Given the description of an element on the screen output the (x, y) to click on. 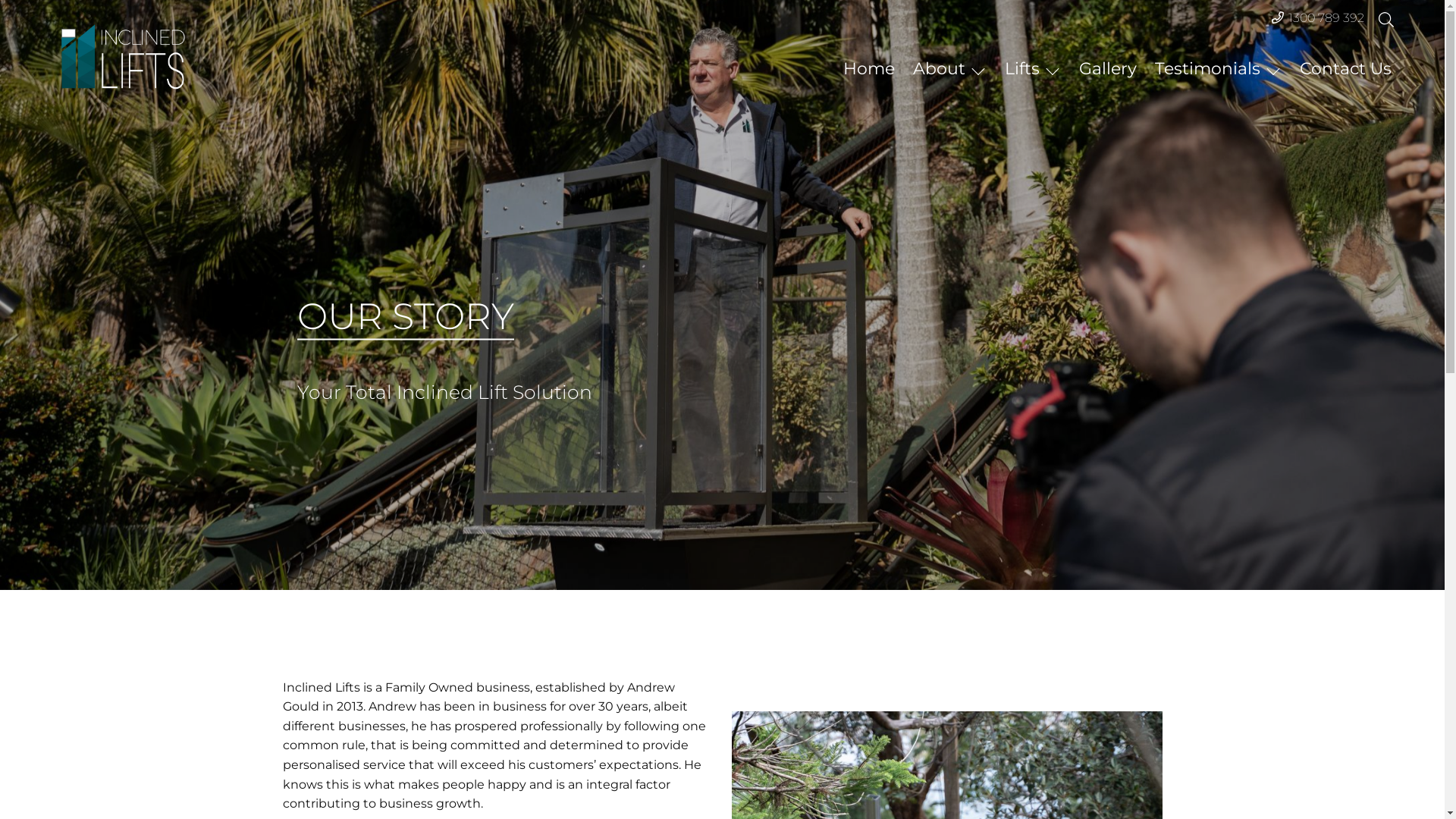
Contact Us Element type: text (1345, 67)
1300 789 392 Element type: text (1326, 17)
Search Element type: text (11, 11)
About Element type: text (949, 67)
Lifts Element type: text (1032, 67)
Gallery Element type: text (1107, 67)
Testimonials Element type: text (1218, 67)
Home Element type: text (868, 67)
